Given the description of an element on the screen output the (x, y) to click on. 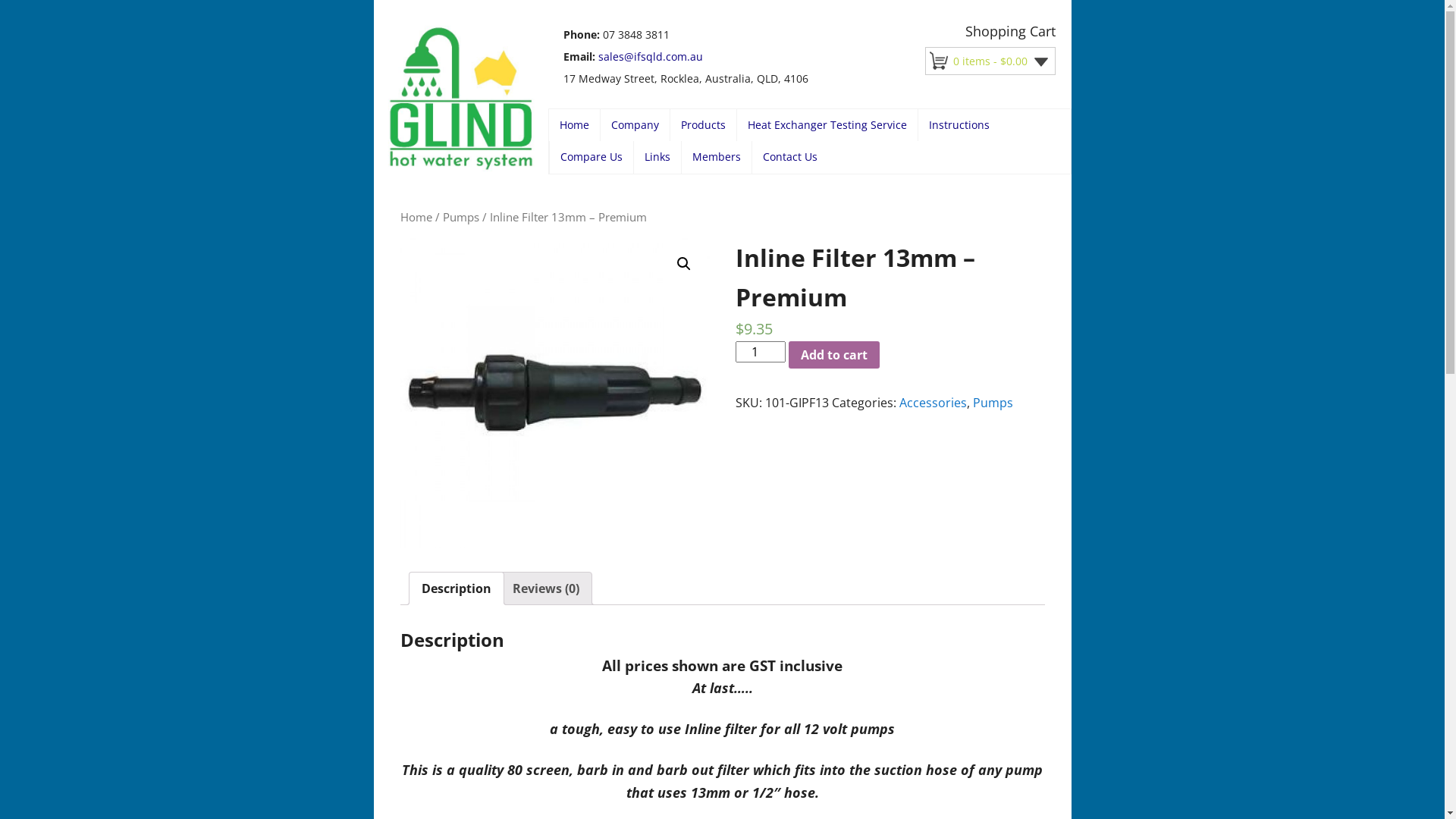
Company Element type: text (634, 125)
0 items - $0.00 Element type: text (1003, 60)
Home Element type: text (574, 125)
Instructions Element type: text (958, 125)
Contact Us Element type: text (790, 157)
sales@ifsqld.com.au Element type: text (649, 56)
Add to cart Element type: text (833, 354)
Products Element type: text (703, 125)
Reviews (0) Element type: text (545, 588)
Links Element type: text (656, 157)
Qty Element type: hover (760, 351)
Pumps Element type: text (460, 216)
cropped-Glind-logo-512x512-pixels.jpg Element type: hover (460, 98)
filter-500x500 Element type: hover (554, 392)
Pumps Element type: text (992, 402)
Description Element type: text (456, 588)
Members Element type: text (715, 157)
Heat Exchanger Testing Service Element type: text (827, 125)
Compare Us Element type: text (590, 157)
Home Element type: text (416, 216)
Accessories Element type: text (932, 402)
